Given the description of an element on the screen output the (x, y) to click on. 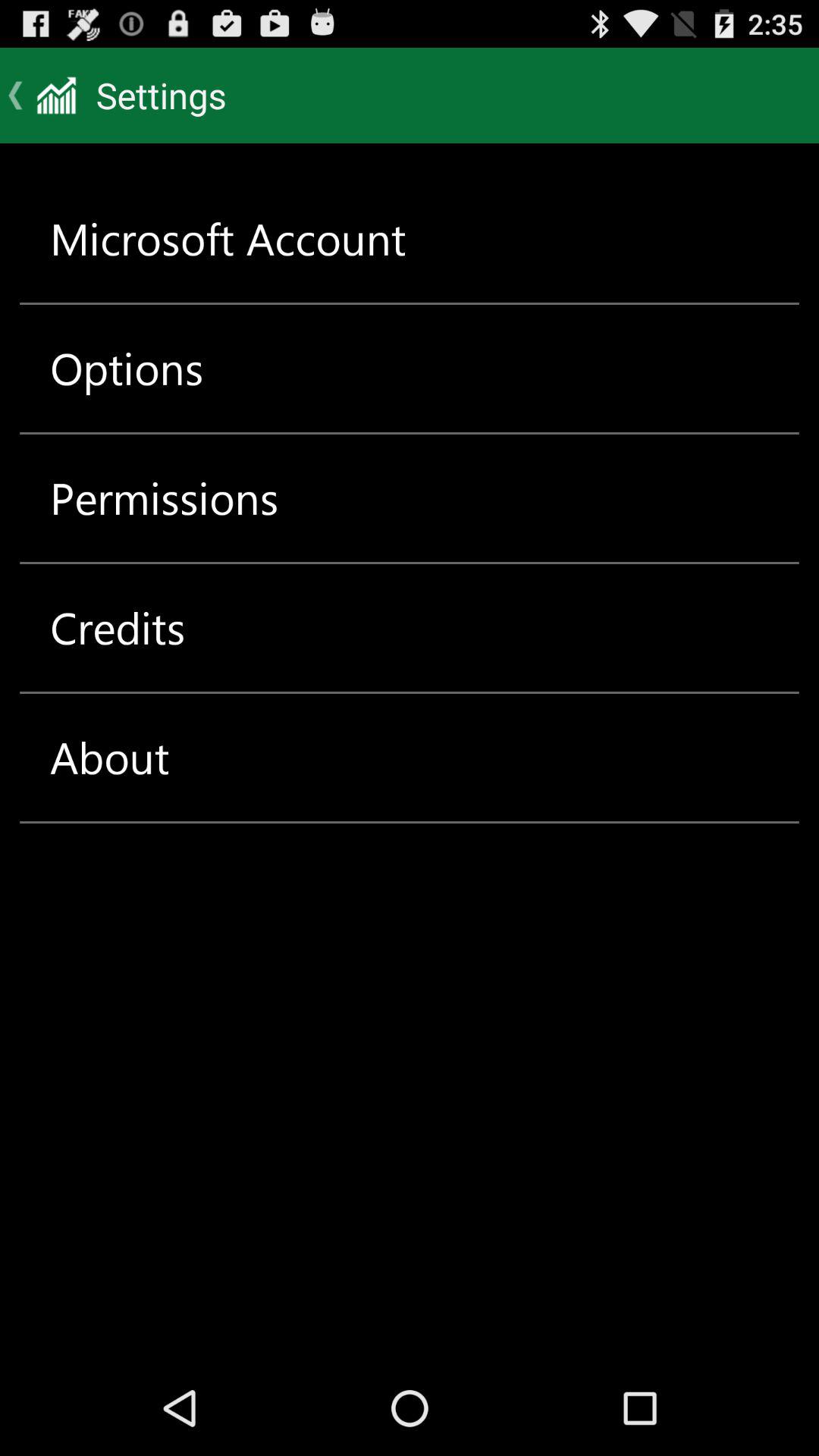
scroll to the options (126, 368)
